Given the description of an element on the screen output the (x, y) to click on. 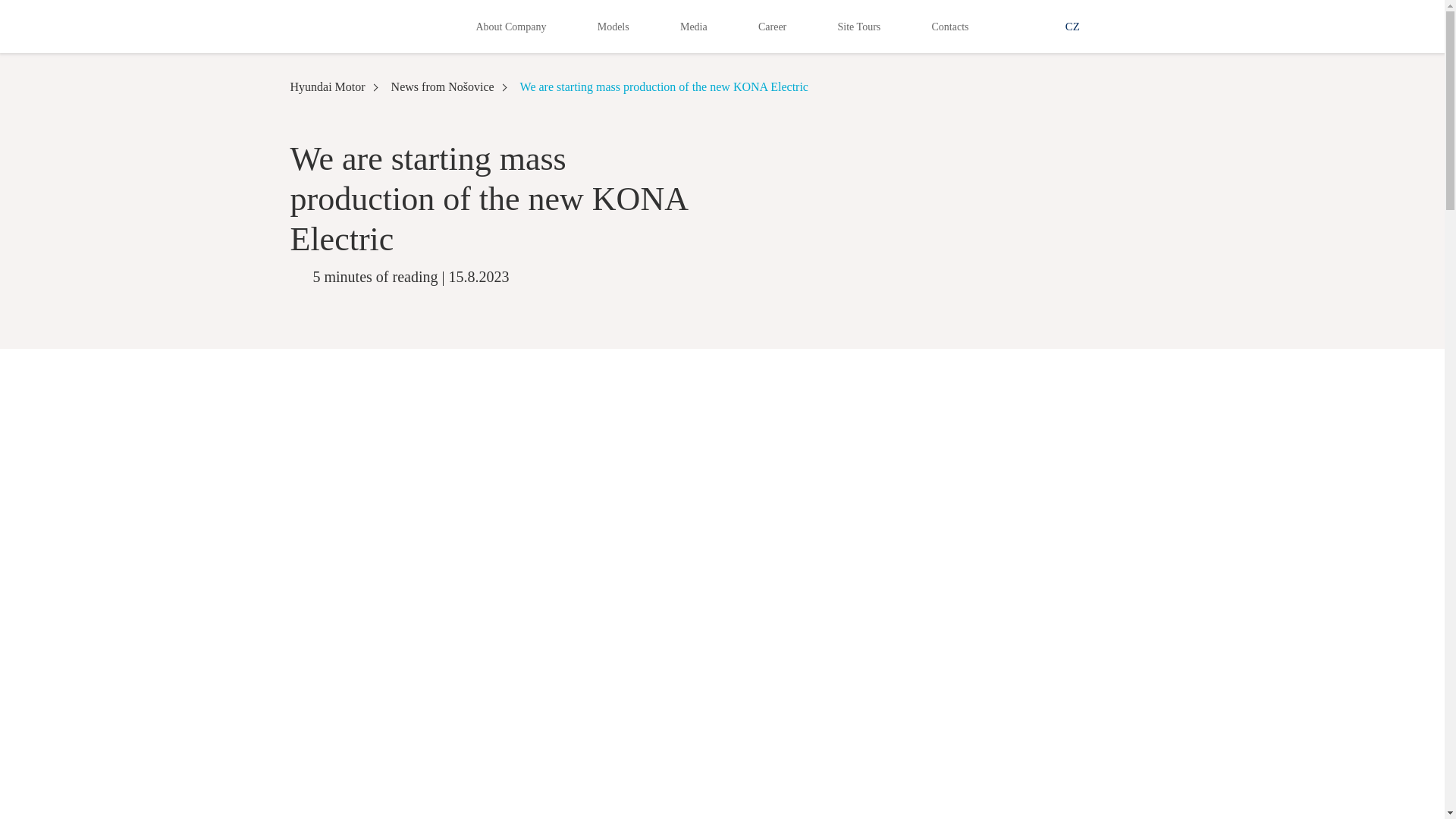
Hyundai Motor (354, 25)
About Company (510, 25)
